Given the description of an element on the screen output the (x, y) to click on. 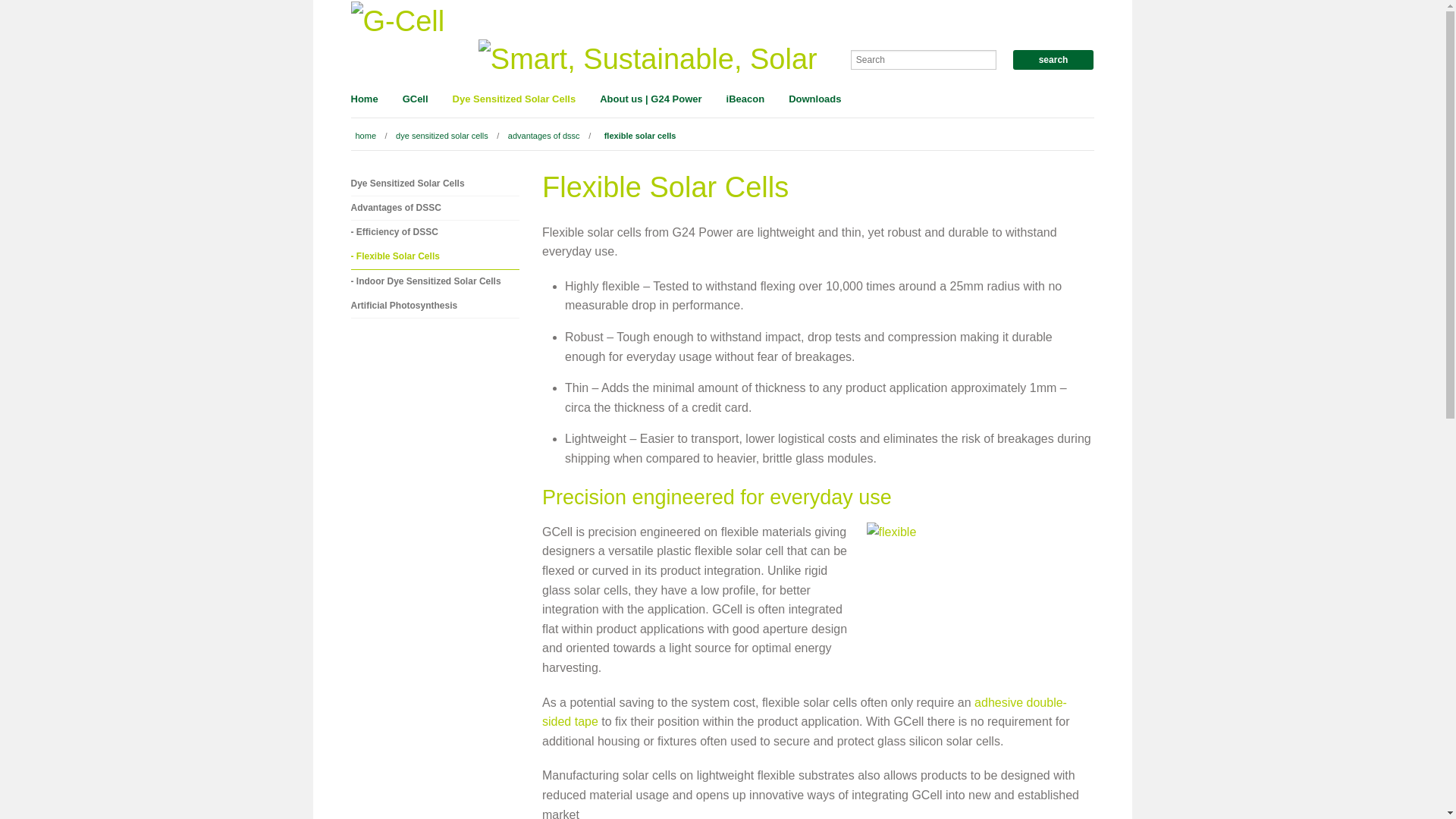
GCell (415, 99)
Efficiency of DSSC (434, 232)
advantages of dssc (544, 135)
Home (370, 99)
home (365, 135)
Search (1053, 59)
iBeacon (745, 99)
Dye Sensitized Solar Cells (514, 99)
Integration (804, 712)
Search (1053, 59)
G24 (647, 57)
Downloads (808, 99)
dye sensitized solar cells (442, 135)
Advantages of DSSC (434, 208)
Dye Sensitized Solar Cells (434, 183)
